Given the description of an element on the screen output the (x, y) to click on. 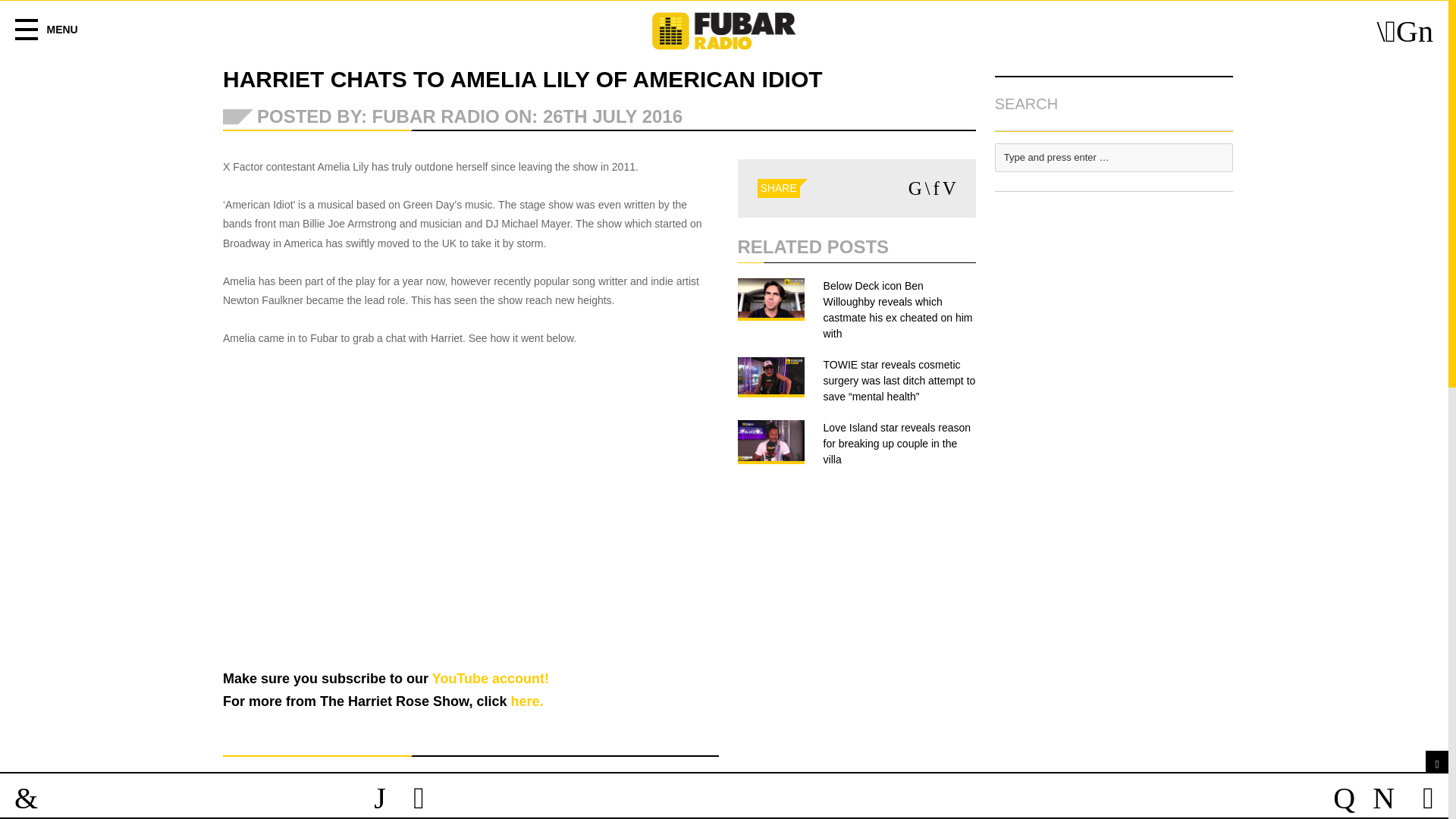
Harriet Rose (527, 701)
SEARCH (1113, 103)
here. (527, 701)
YouTube account! (490, 678)
